Given the description of an element on the screen output the (x, y) to click on. 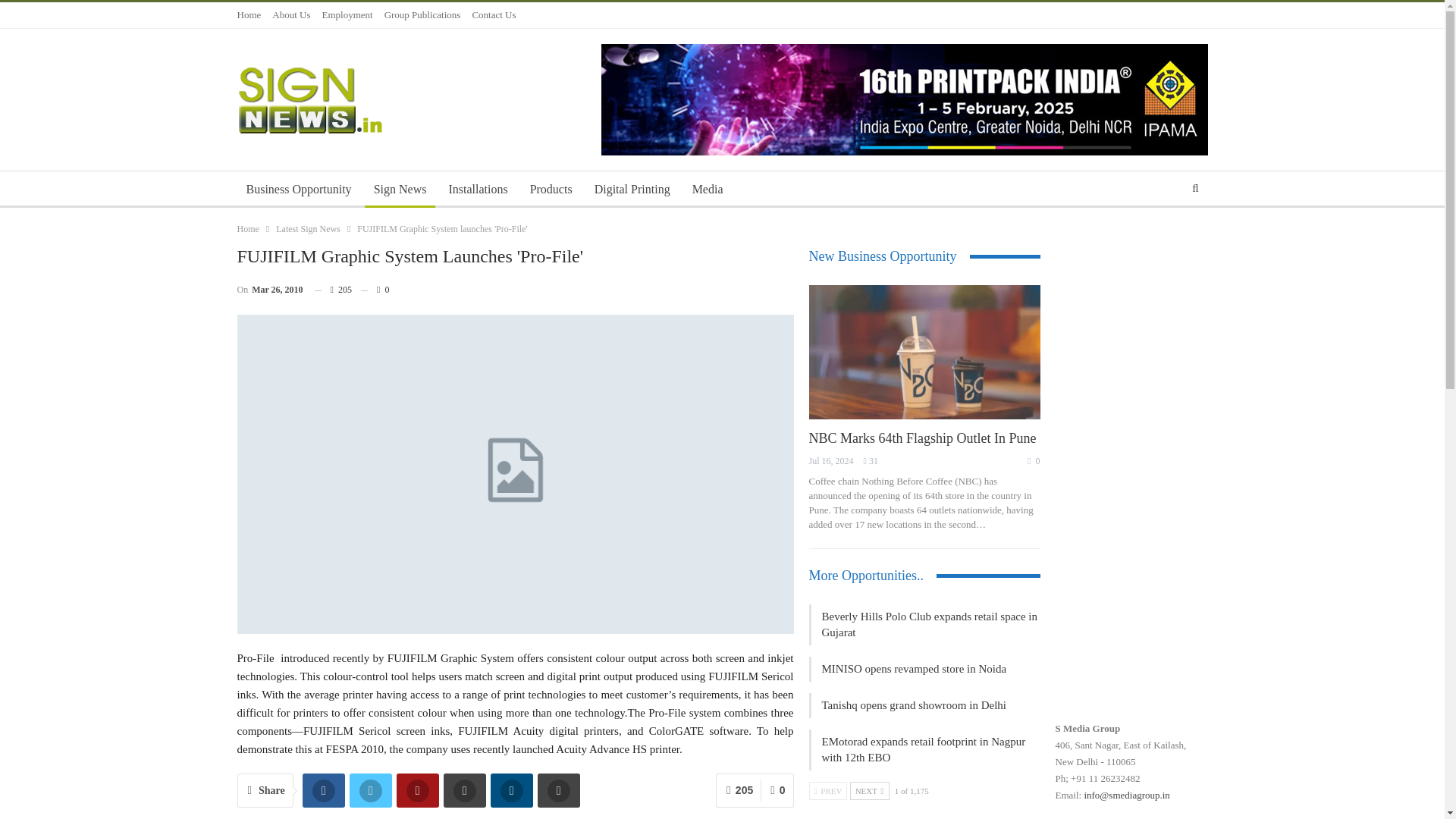
Employment (346, 14)
Home (247, 14)
Products (550, 189)
0 (776, 790)
Media (707, 189)
Contact Us (493, 14)
Installations (477, 189)
About Us (291, 14)
Business Opportunity (297, 189)
0 (374, 289)
Sign News (400, 189)
Digital Printing (632, 189)
Home (247, 228)
Group Publications (422, 14)
Latest Sign News (308, 228)
